Given the description of an element on the screen output the (x, y) to click on. 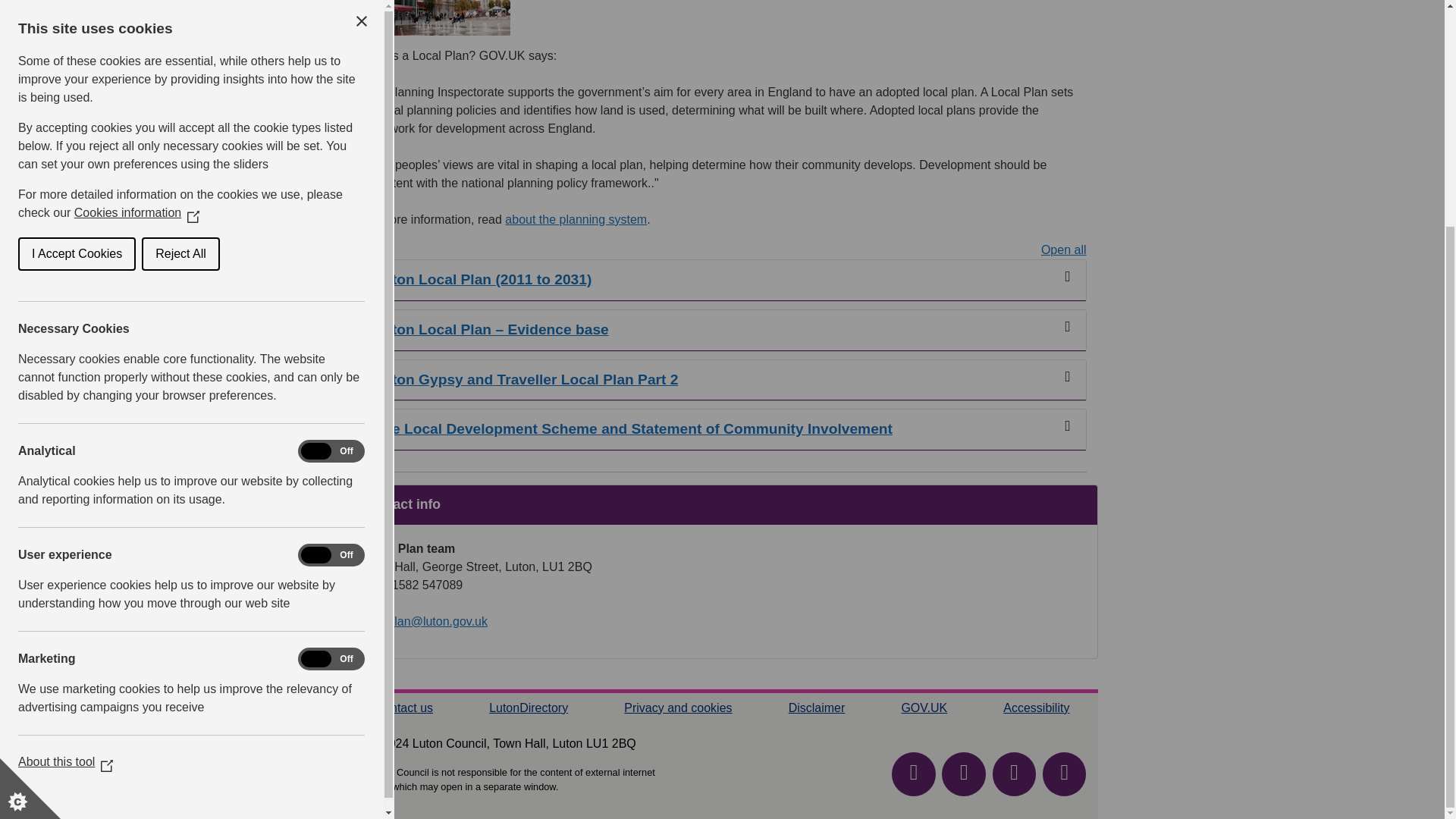
Disclaimer (817, 707)
linkedin (1064, 774)
Visit the GOV.UK website (924, 707)
Privacy and cookies (678, 707)
Contact us page - Access key 9 (403, 707)
Accessibility (1035, 707)
about the planning system (575, 219)
youtube (913, 774)
twitter (1014, 774)
Open all (1063, 249)
facebook (963, 774)
Visit the LutonDirectory site (528, 707)
